Given the description of an element on the screen output the (x, y) to click on. 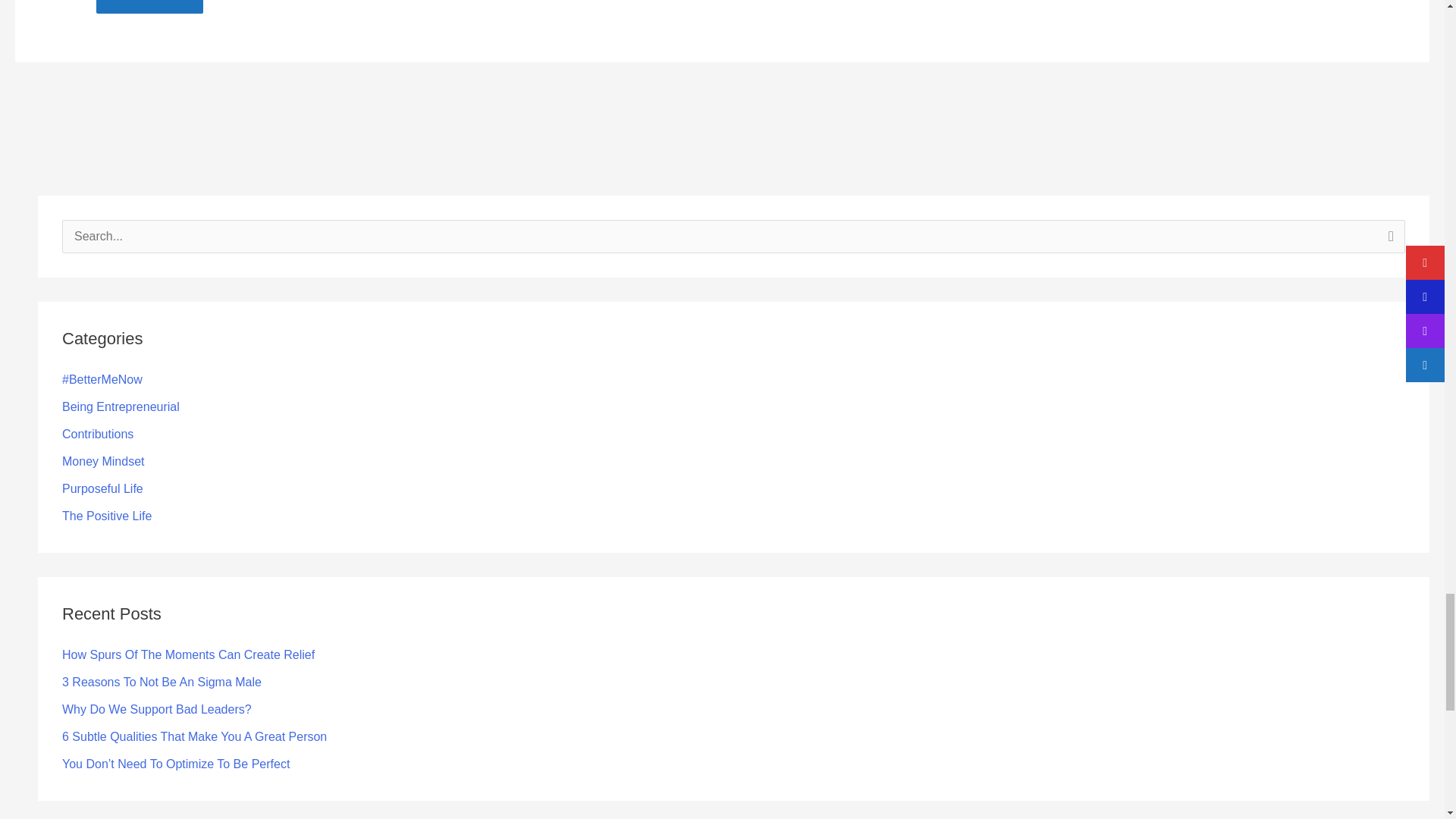
Money Mindset (103, 461)
Being Entrepreneurial (120, 406)
3 Reasons To Not Be An Sigma Male (162, 681)
The Positive Life (106, 515)
Contributions (97, 433)
How Spurs Of The Moments Can Create Relief (188, 654)
Purposeful Life (102, 488)
